Given the description of an element on the screen output the (x, y) to click on. 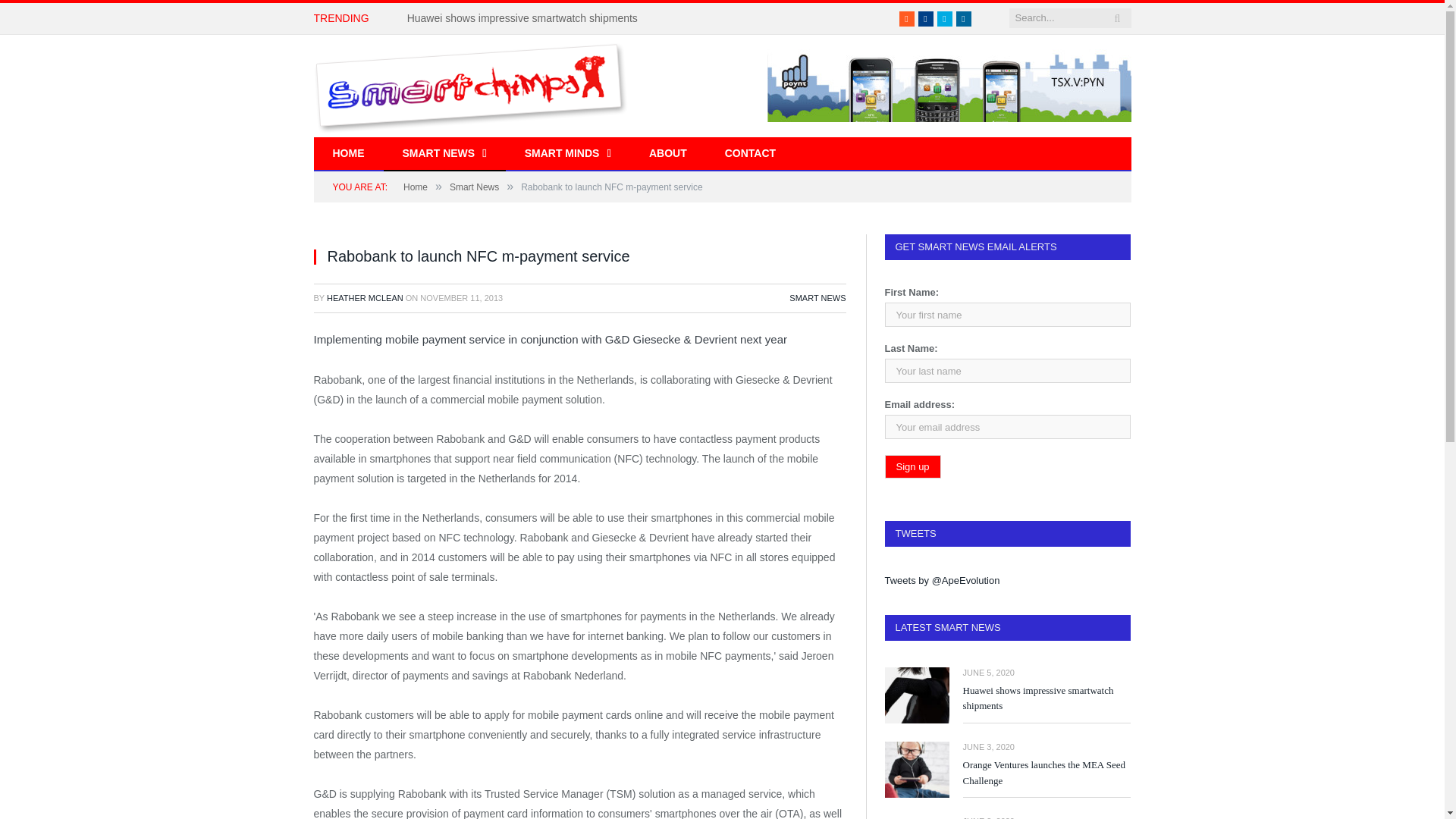
LinkedIn (963, 18)
Twitter (944, 18)
Smartchimps (470, 85)
Huawei shows impressive smartwatch shipments (526, 18)
Sign up (911, 466)
HOME (349, 154)
RSS (906, 18)
Huawei shows impressive smartwatch shipments (526, 18)
SMART NEWS (444, 154)
Facebook (925, 18)
